Given the description of an element on the screen output the (x, y) to click on. 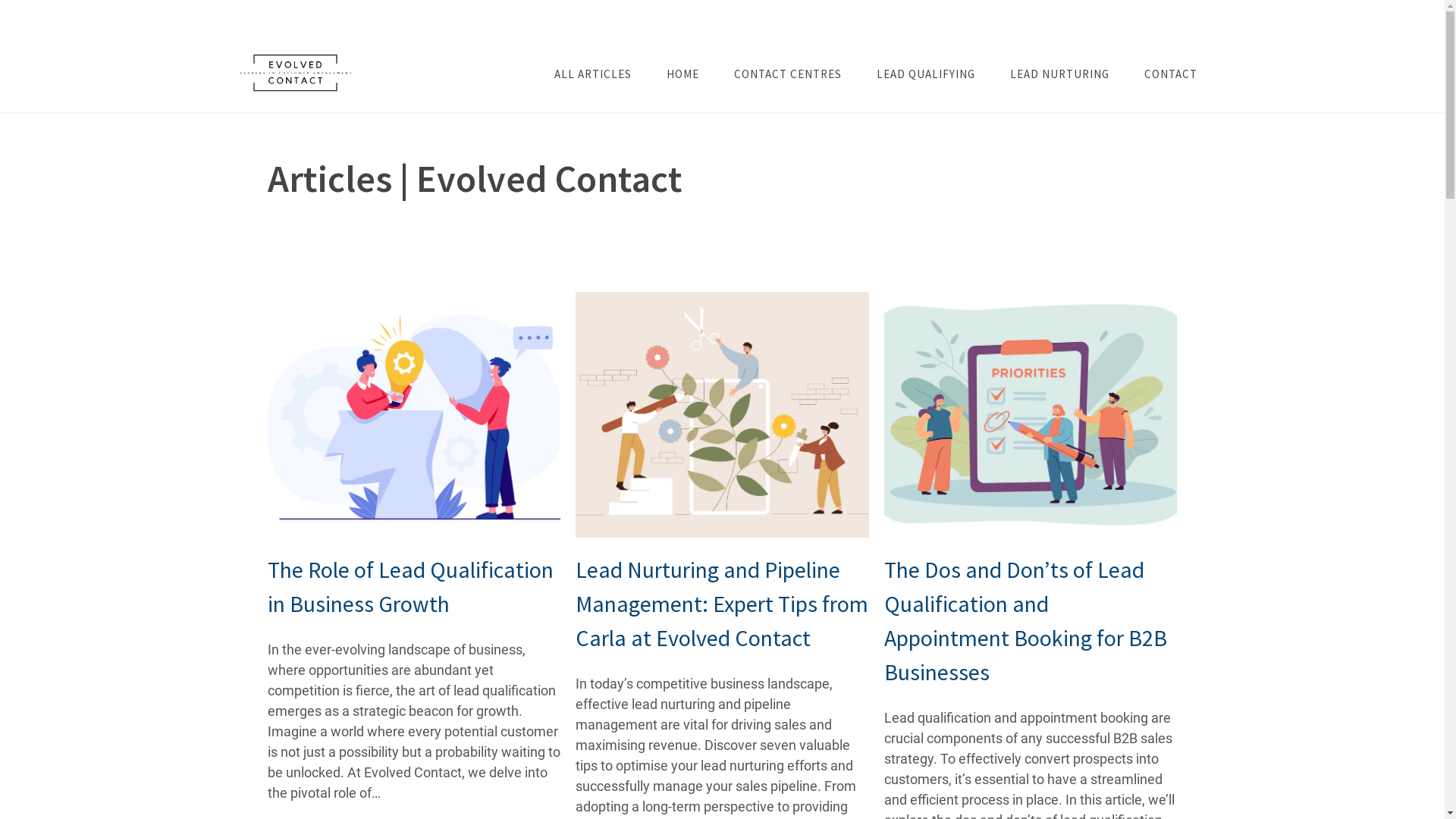
ALL ARTICLES Element type: text (591, 74)
LEAD QUALIFYING Element type: text (925, 74)
HOME Element type: text (682, 74)
CONTACT Element type: text (1169, 74)
LEAD NURTURING Element type: text (1059, 74)
The Role of Lead Qualification in Business Growth Element type: text (413, 586)
CONTACT CENTRES Element type: text (787, 74)
